Given the description of an element on the screen output the (x, y) to click on. 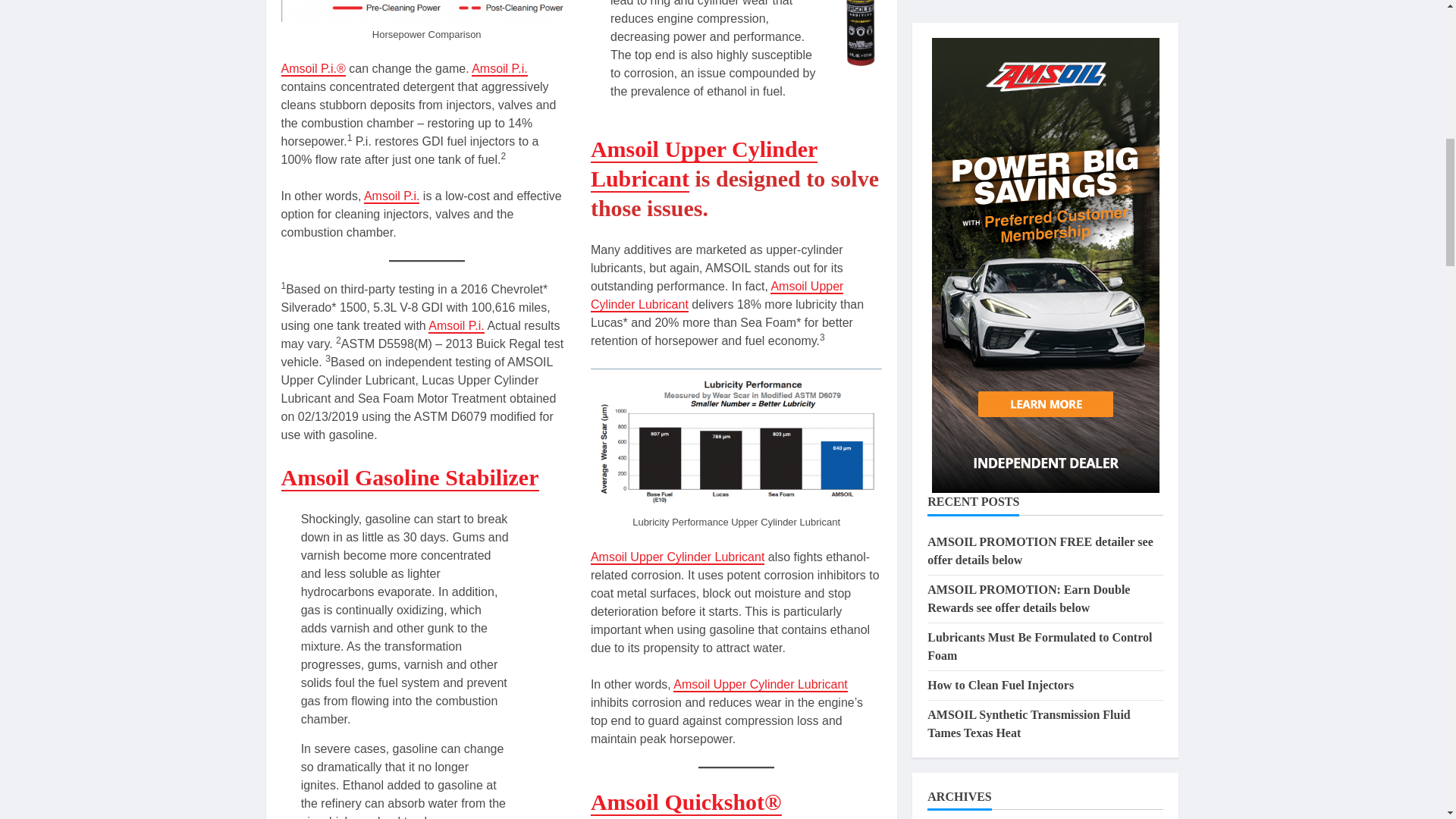
Amsoil P.i. Gasoline Performance Improver (456, 326)
Amsoil Upper Cylinder Lubricant UCL (703, 164)
Amsoil Gasoline Stabilizer ASTCN (409, 478)
Amsoil P.i. Performance Improver Gasoline Additive (392, 196)
Amsoil P.i. Performance Improver Gasoline Additive (313, 69)
Amsoil P.i. Performance Improver Gasoline Additive (499, 69)
